Given the description of an element on the screen output the (x, y) to click on. 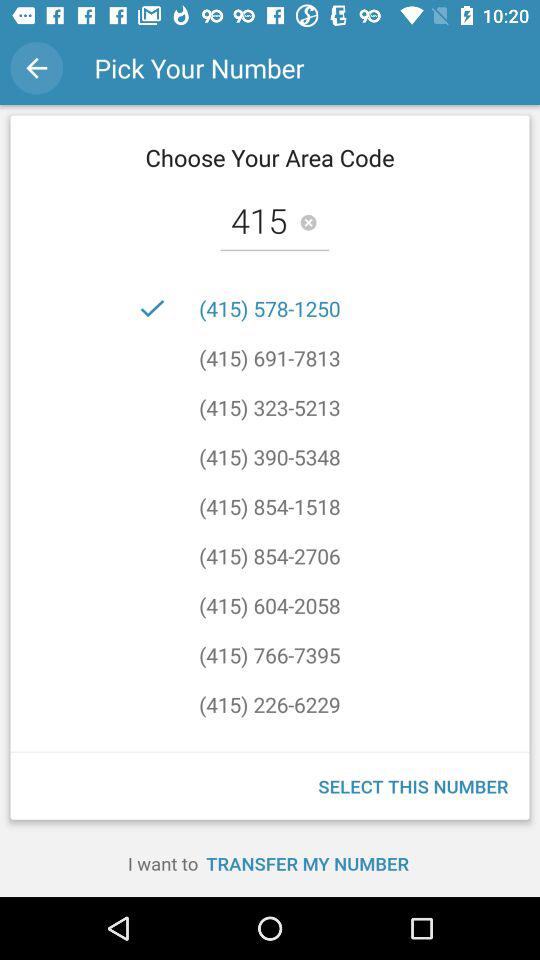
jump until transfer my number item (307, 863)
